Given the description of an element on the screen output the (x, y) to click on. 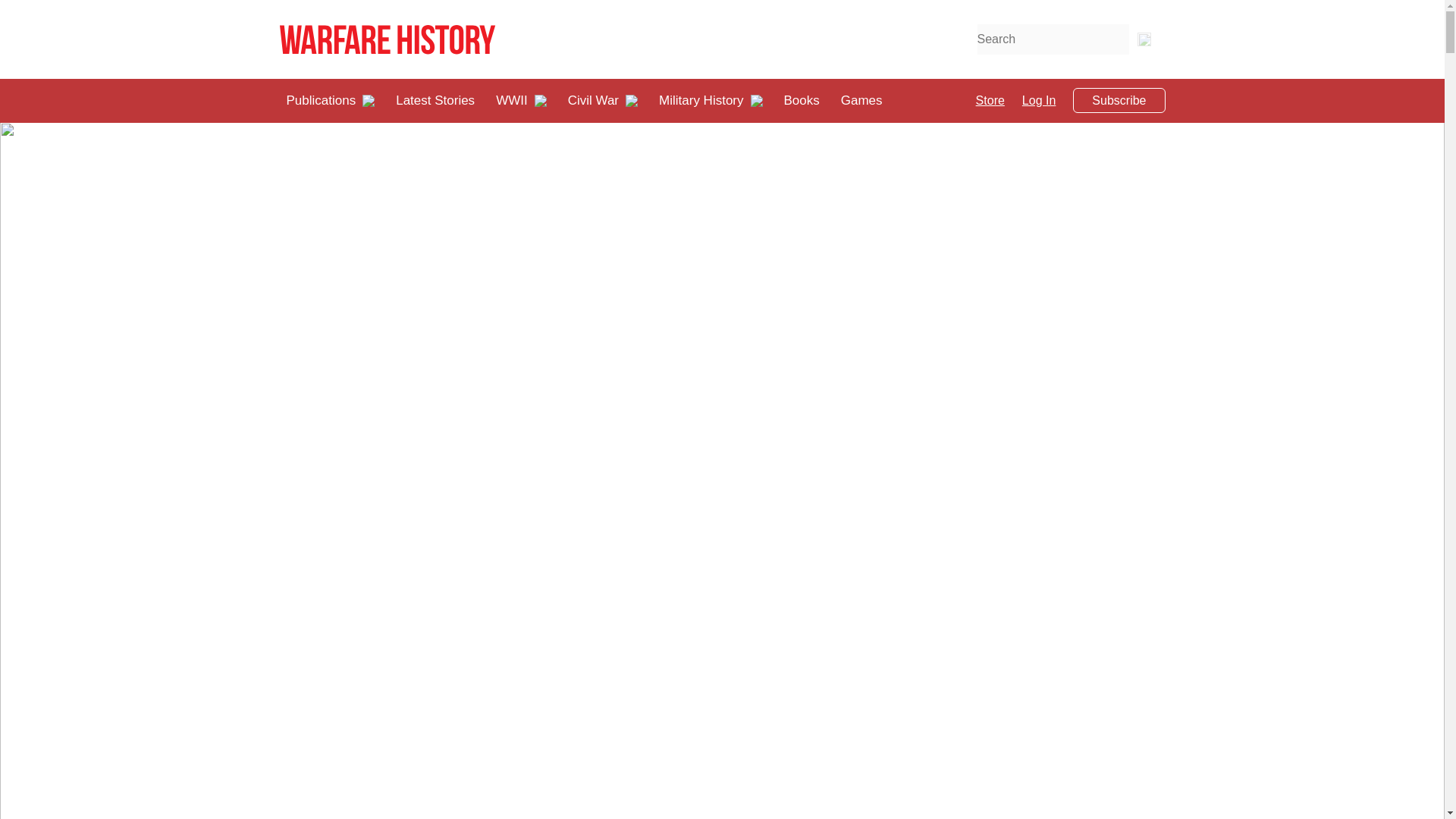
Civil War (592, 100)
Publications (321, 100)
Search (1143, 39)
Latest Stories (435, 100)
Military History (700, 100)
